Given the description of an element on the screen output the (x, y) to click on. 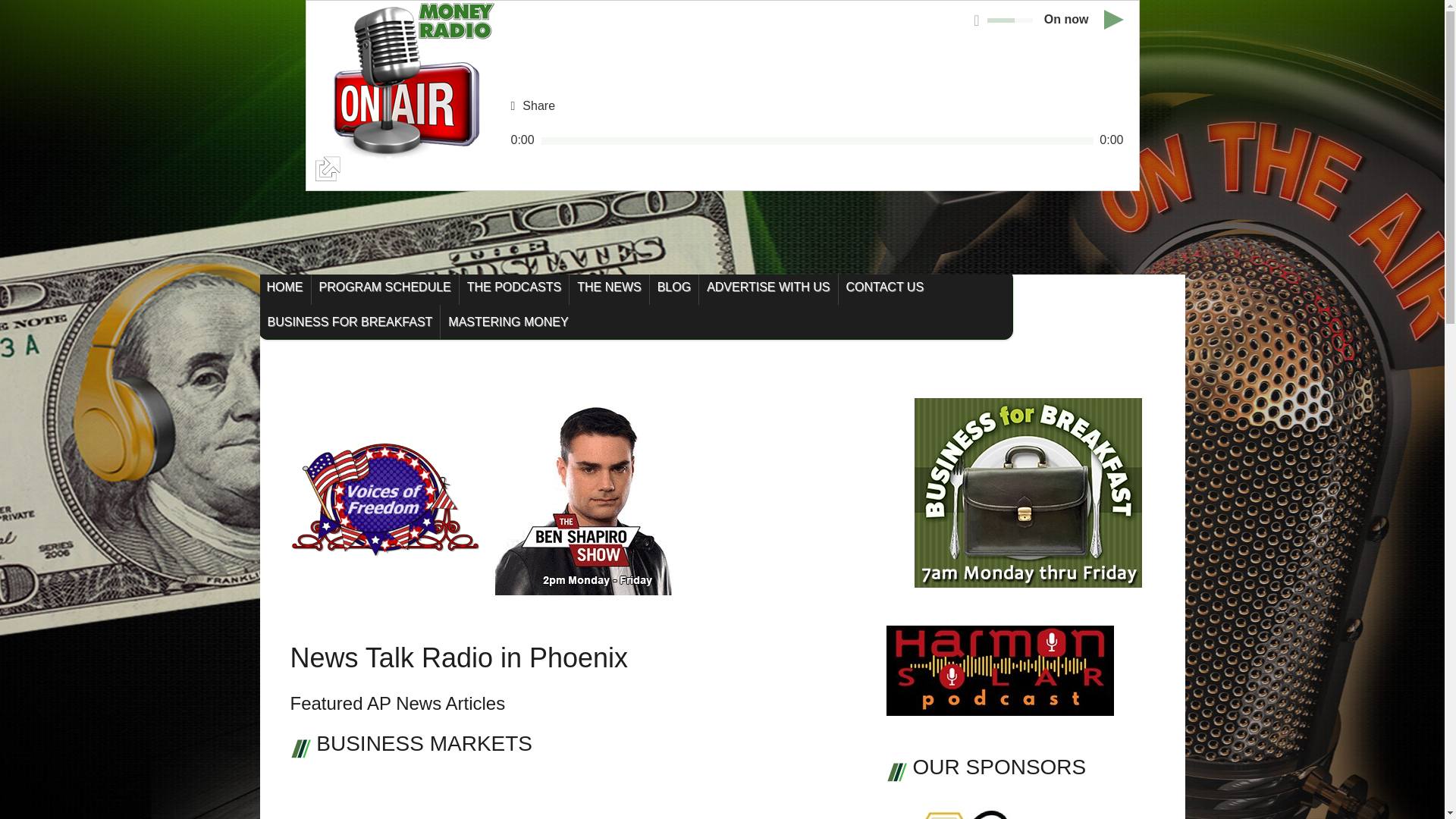
ADVERTISE WITH US (767, 287)
Expand (400, 95)
BLOG (673, 287)
BUSINESS FOR BREAKFAST (349, 321)
THE PODCASTS (514, 287)
HOME (285, 287)
CONTACT US (884, 287)
PROGRAM SCHEDULE (384, 287)
MASTERING MONEY (508, 321)
THE NEWS (608, 287)
